Given the description of an element on the screen output the (x, y) to click on. 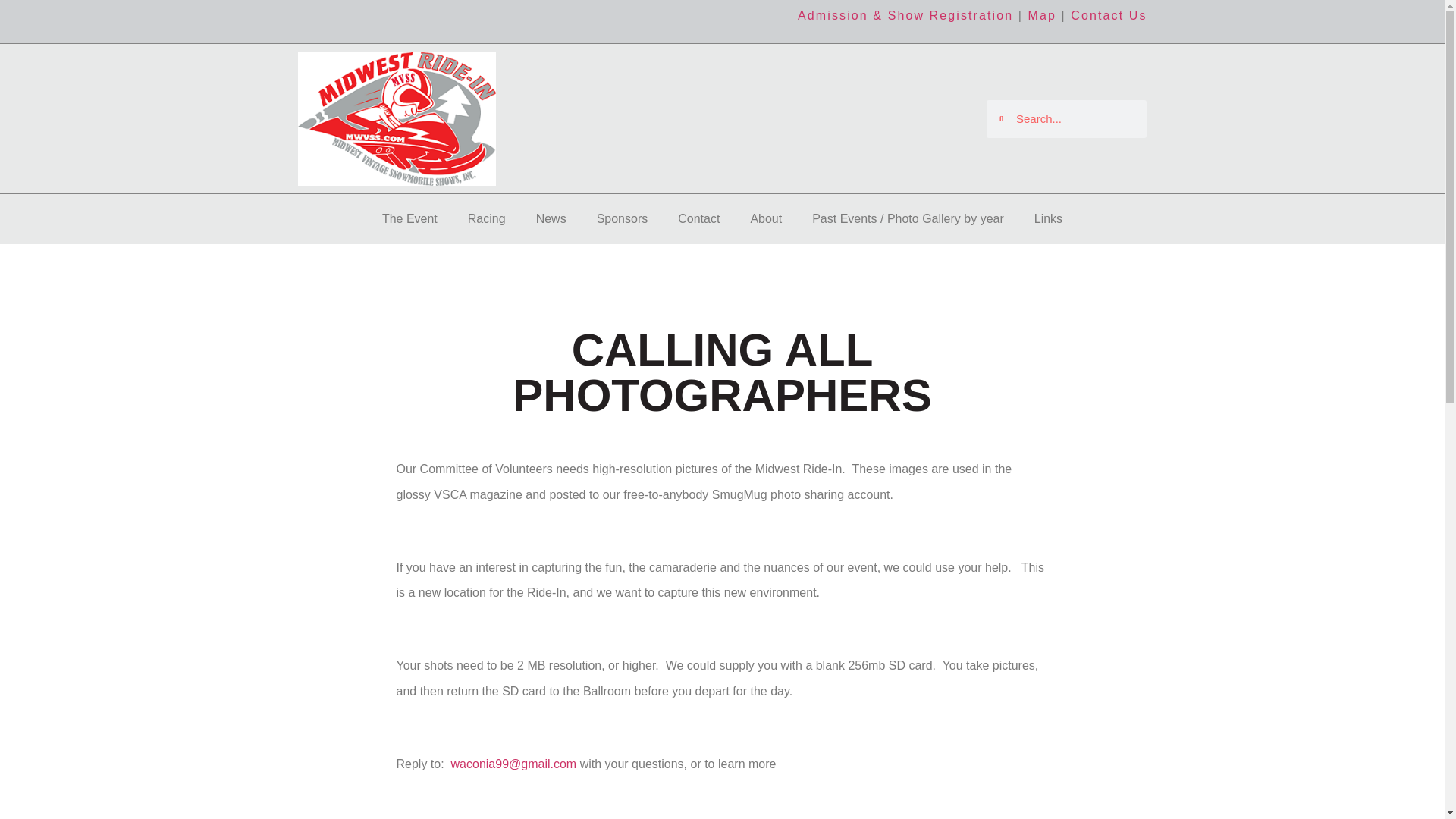
Map (1042, 15)
Contact (698, 218)
About (765, 218)
Contact Us (1108, 15)
Sponsors (621, 218)
Links (1048, 218)
Racing (486, 218)
News (550, 218)
The Event (409, 218)
